Given the description of an element on the screen output the (x, y) to click on. 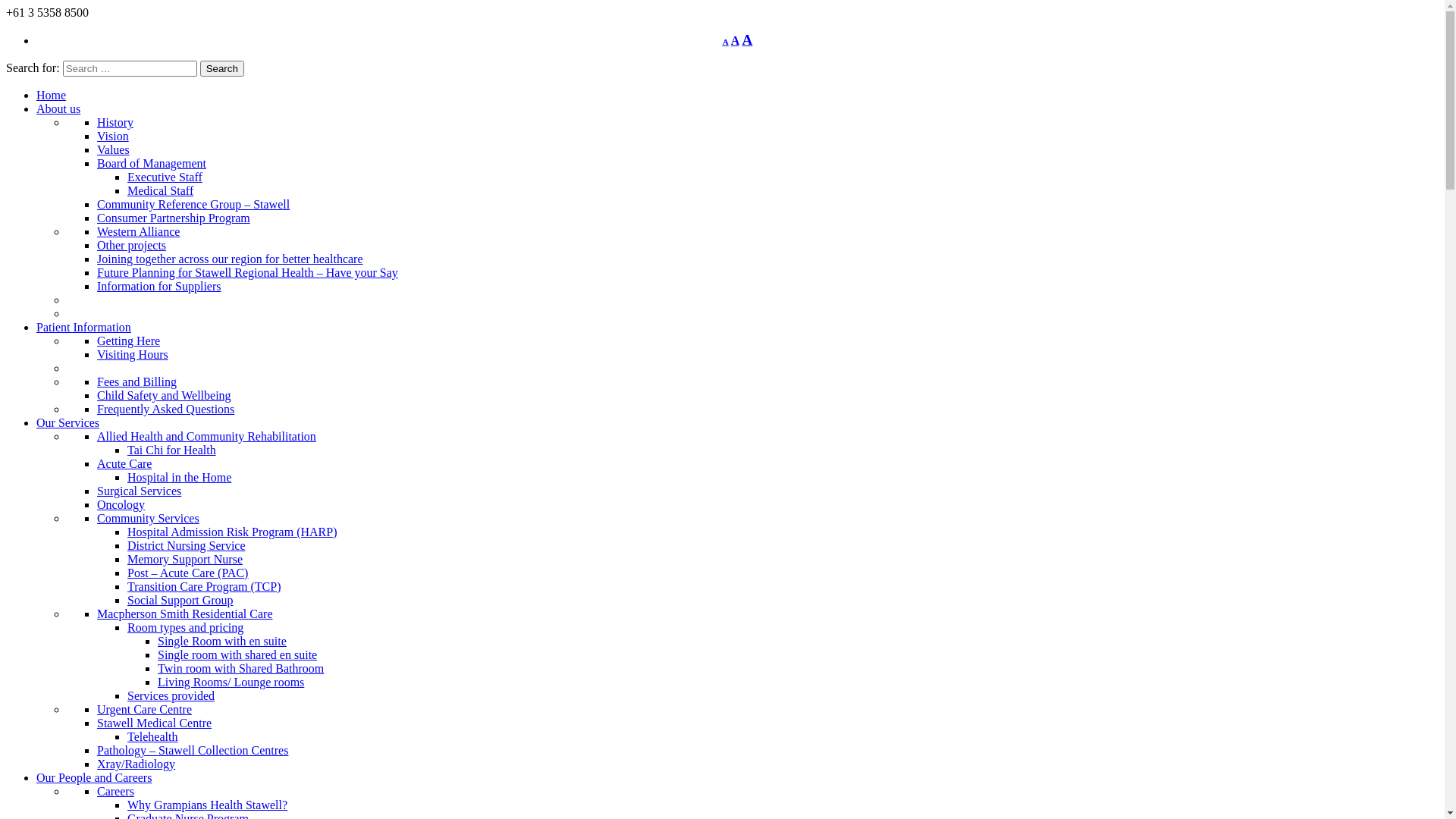
Fees and Billing Element type: text (136, 381)
Board of Management Element type: text (151, 162)
Allied Health and Community Rehabilitation Element type: text (206, 435)
Transition Care Program (TCP) Element type: text (204, 586)
Information for Suppliers Element type: text (159, 285)
Getting Here Element type: text (128, 340)
Consumer Partnership Program Element type: text (173, 217)
Home Element type: text (50, 94)
Hospital in the Home Element type: text (179, 476)
Other projects Element type: text (131, 244)
Why Grampians Health Stawell? Element type: text (207, 804)
Search Element type: text (222, 68)
Our People and Careers Element type: text (93, 777)
Acute Care Element type: text (124, 463)
Executive Staff Element type: text (164, 176)
Memory Support Nurse Element type: text (184, 558)
Careers Element type: text (115, 790)
Child Safety and Wellbeing Element type: text (164, 395)
Urgent Care Centre Element type: text (144, 708)
Twin room with Shared Bathroom Element type: text (240, 668)
Frequently Asked Questions Element type: text (165, 408)
A Element type: text (747, 39)
Xray/Radiology Element type: text (136, 763)
Oncology Element type: text (120, 504)
About us Element type: text (58, 108)
Stawell Medical Centre Element type: text (154, 722)
Single Room with en suite Element type: text (221, 640)
Medical Staff Element type: text (160, 190)
Western Alliance Element type: text (138, 231)
Our Services Element type: text (67, 422)
Telehealth Element type: text (152, 736)
Patient Information Element type: text (83, 326)
History Element type: text (115, 122)
Living Rooms/ Lounge rooms Element type: text (230, 681)
Joining together across our region for better healthcare Element type: text (230, 258)
Hospital Admission Risk Program (HARP) Element type: text (231, 531)
Single room with shared en suite Element type: text (236, 654)
A Element type: text (735, 40)
Social Support Group Element type: text (180, 599)
Values Element type: text (113, 149)
Macpherson Smith Residential Care Element type: text (185, 613)
Visiting Hours Element type: text (132, 354)
District Nursing Service Element type: text (186, 545)
Community Services Element type: text (148, 517)
A Element type: text (725, 41)
Services provided Element type: text (170, 695)
Tai Chi for Health Element type: text (171, 449)
Room types and pricing Element type: text (185, 627)
Vision Element type: text (112, 135)
Surgical Services Element type: text (139, 490)
